Given the description of an element on the screen output the (x, y) to click on. 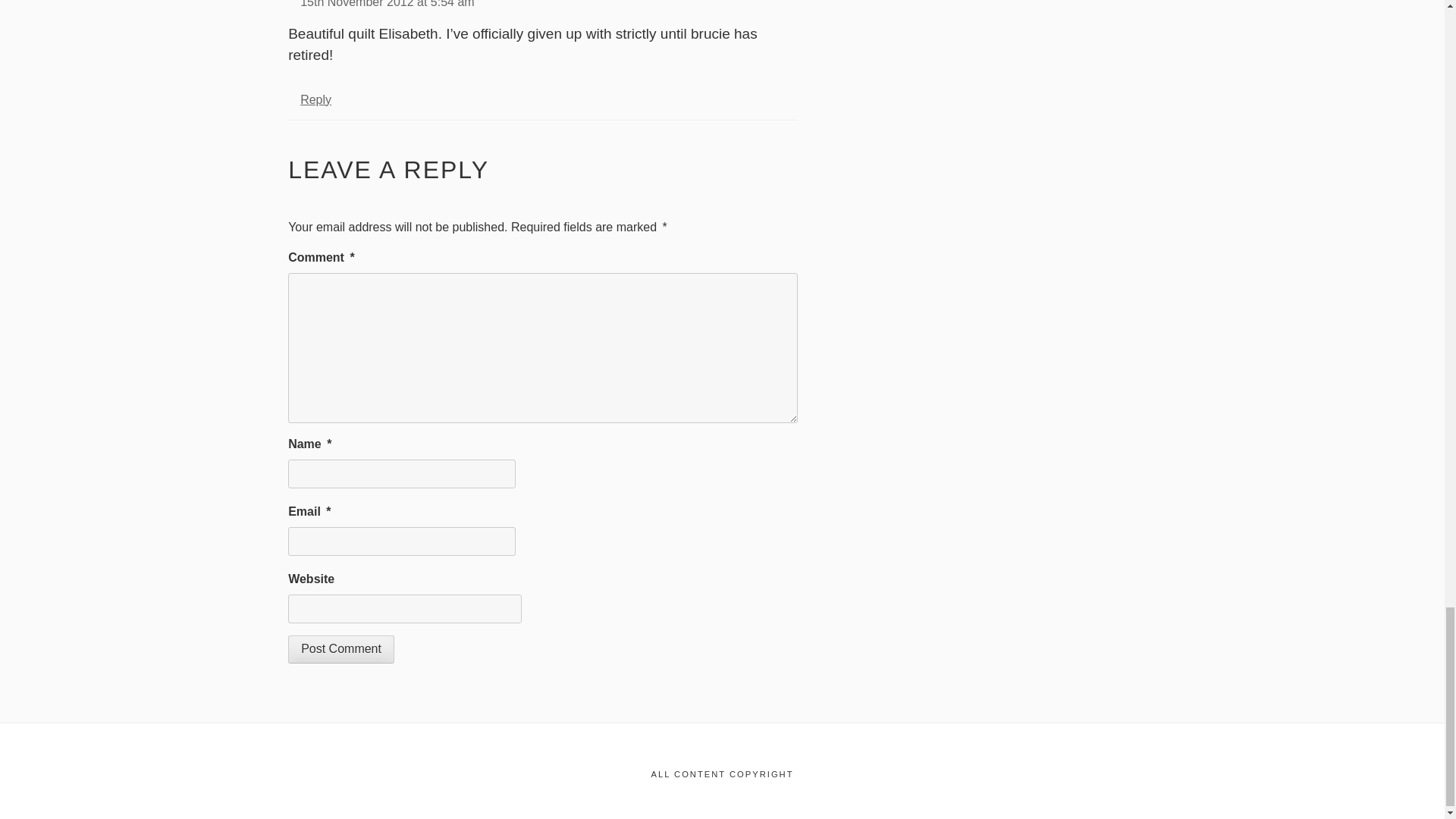
Post Comment (341, 649)
15th November 2012 at 5:54 am (386, 4)
Reply (315, 99)
Post Comment (341, 649)
